Given the description of an element on the screen output the (x, y) to click on. 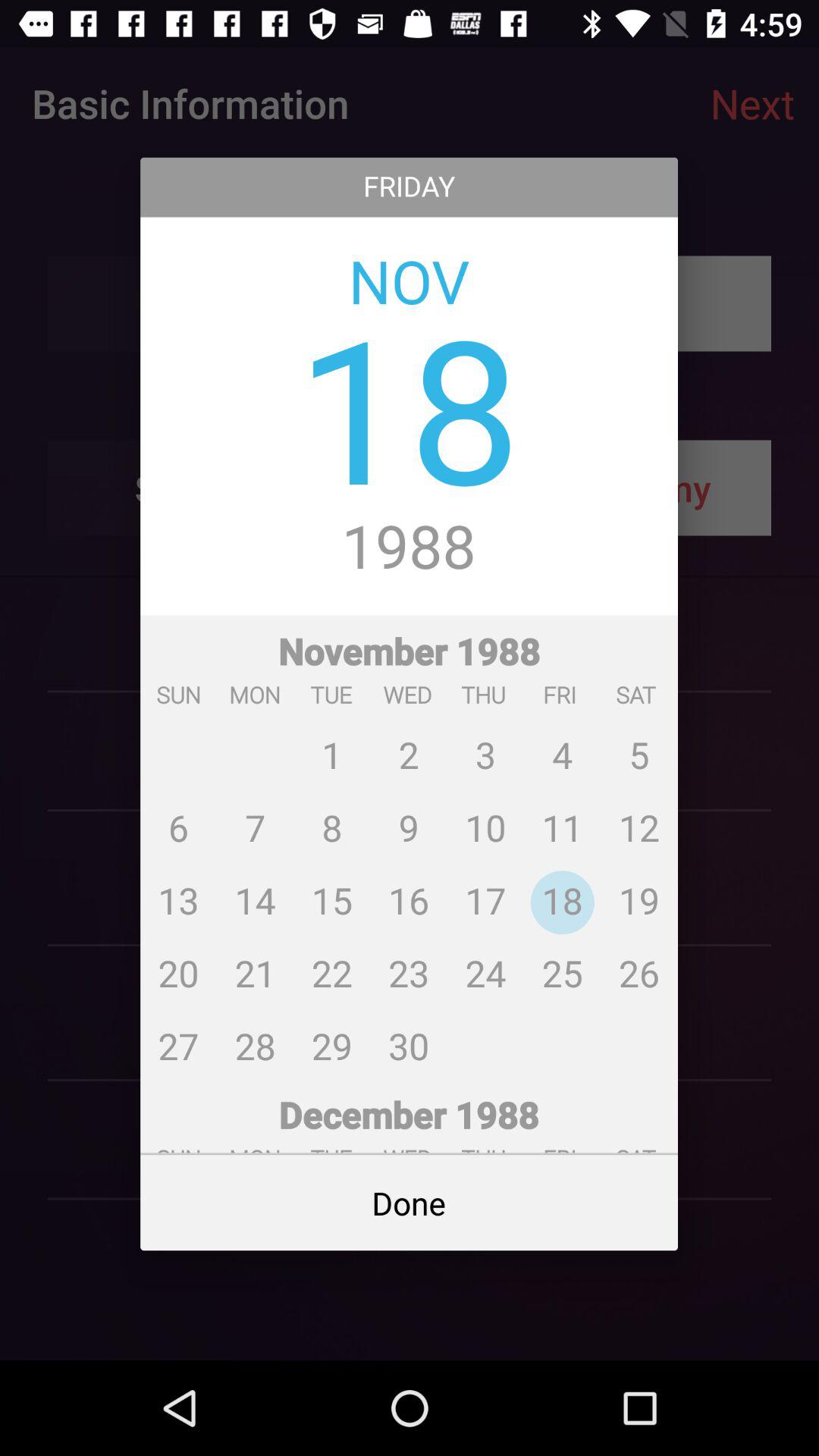
jump to the done item (408, 1202)
